Given the description of an element on the screen output the (x, y) to click on. 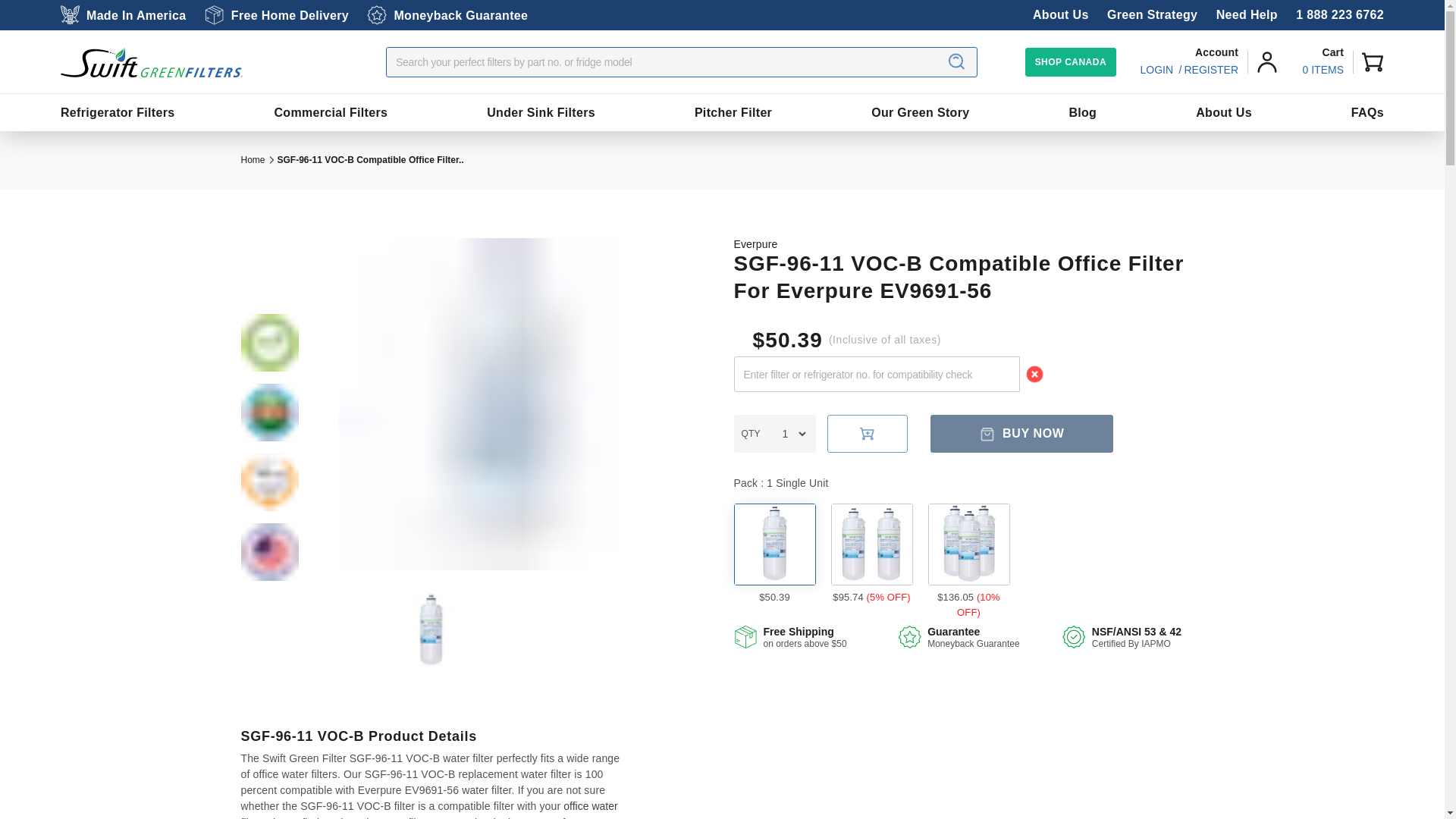
0 ITEMS (1323, 69)
About Us (1060, 14)
LOGIN (1156, 69)
Free Home Delivery (277, 14)
Back to the frontpage (252, 159)
Made In America (123, 14)
SHOP CANADA (1070, 61)
Green Strategy (1151, 14)
Moneyback Guarantee (446, 14)
Need Help (1246, 14)
